Given the description of an element on the screen output the (x, y) to click on. 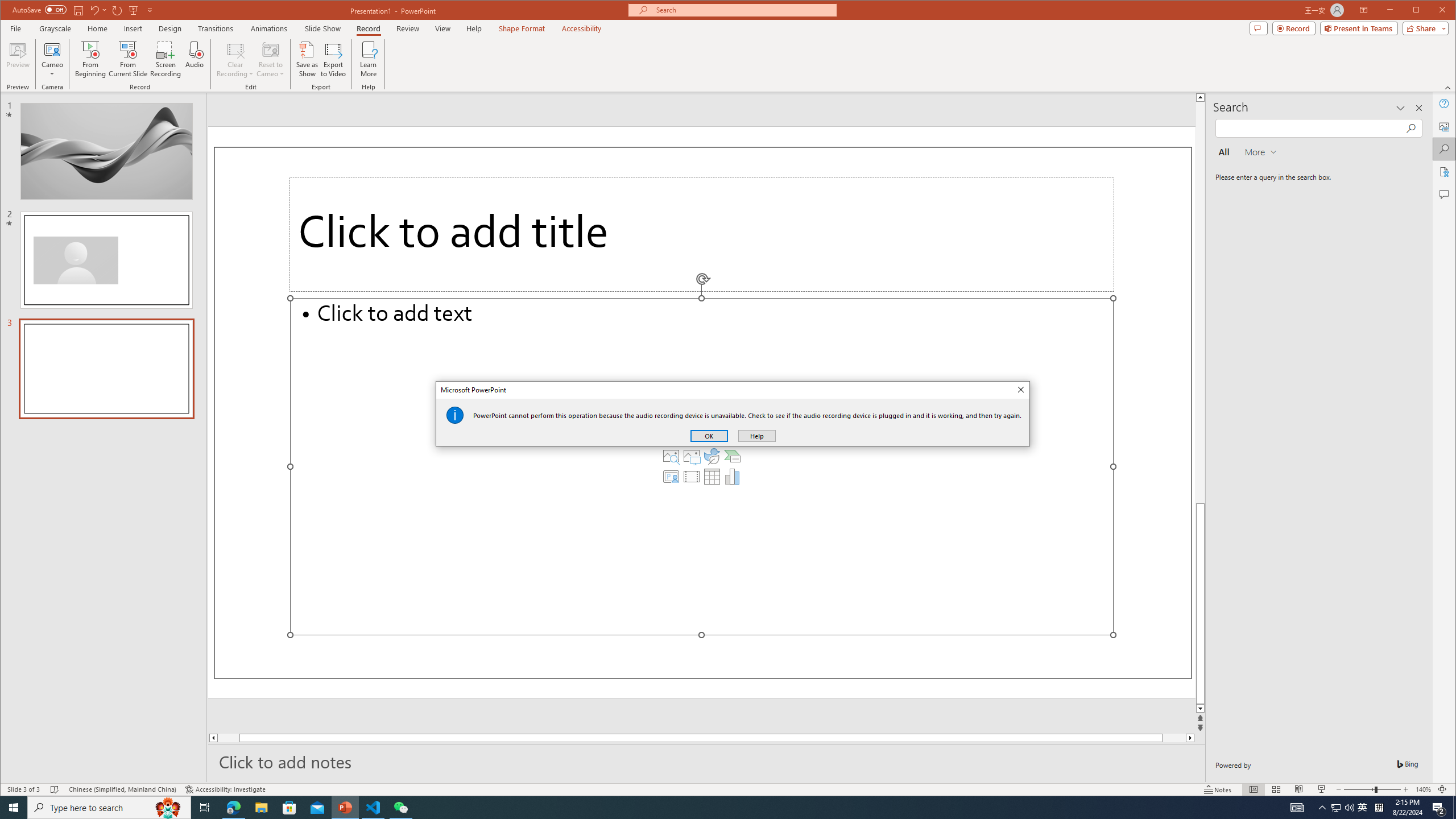
From Current Slide... (127, 59)
WeChat - 1 running window (400, 807)
Insert Video (691, 476)
Reset to Cameo (269, 59)
